Given the description of an element on the screen output the (x, y) to click on. 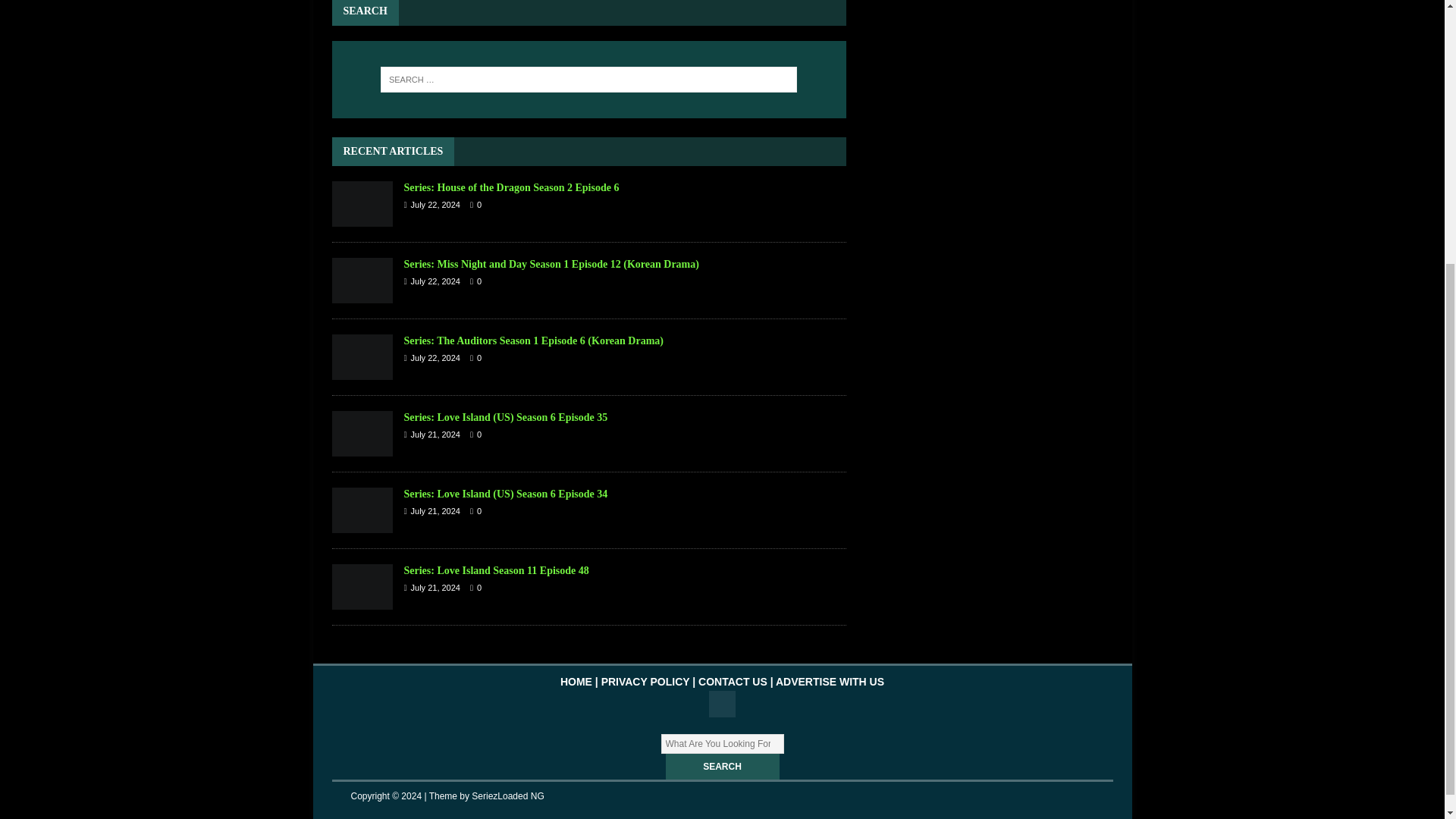
Series: House of the Dragon Season 2 Episode 6 (362, 203)
Series: Love Island Season 11 Episode 48 (495, 570)
Series: House of the Dragon Season 2 Episode 6 (510, 187)
Series: House of the Dragon Season 2 Episode 6 (510, 187)
WhatsApp (722, 704)
Search (721, 766)
Series: Love Island Season 11 Episode 48 (362, 586)
